Given the description of an element on the screen output the (x, y) to click on. 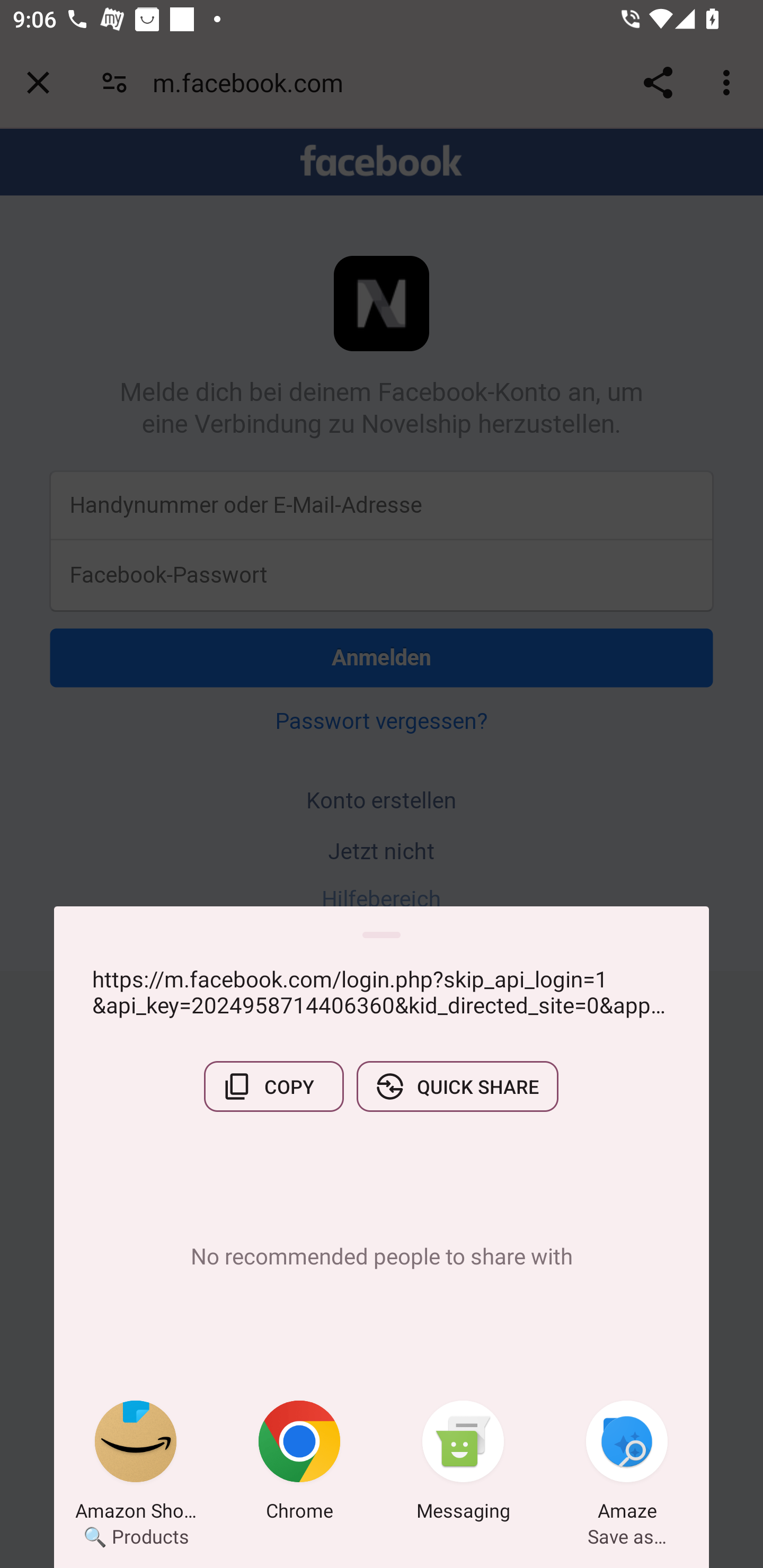
COPY (273, 1086)
QUICK SHARE (457, 1086)
Amazon Shopping 🔍 Products (135, 1463)
Chrome (299, 1463)
Messaging (463, 1463)
Amaze Save as… (626, 1463)
